Given the description of an element on the screen output the (x, y) to click on. 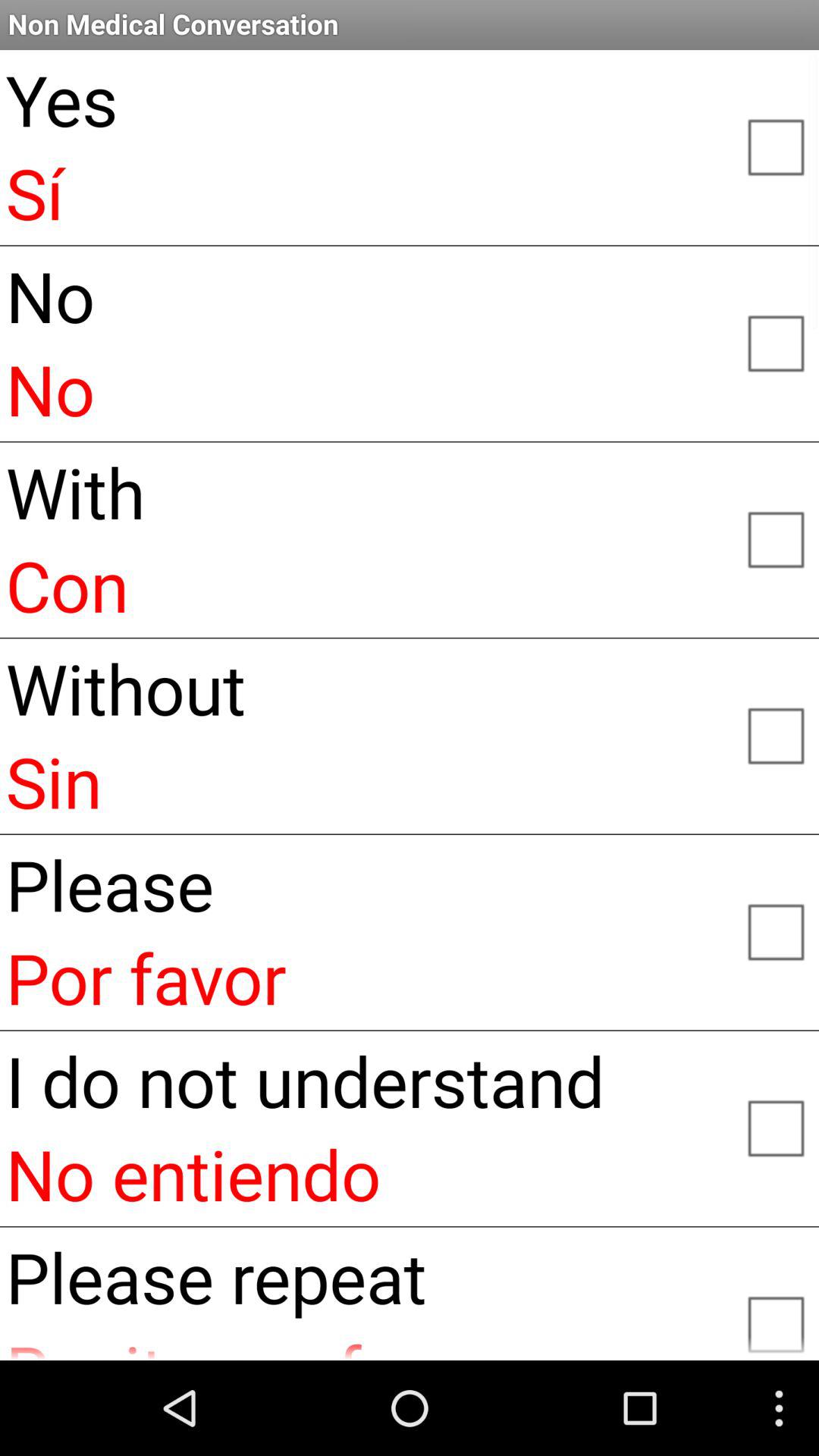
check box to select option (775, 145)
